Given the description of an element on the screen output the (x, y) to click on. 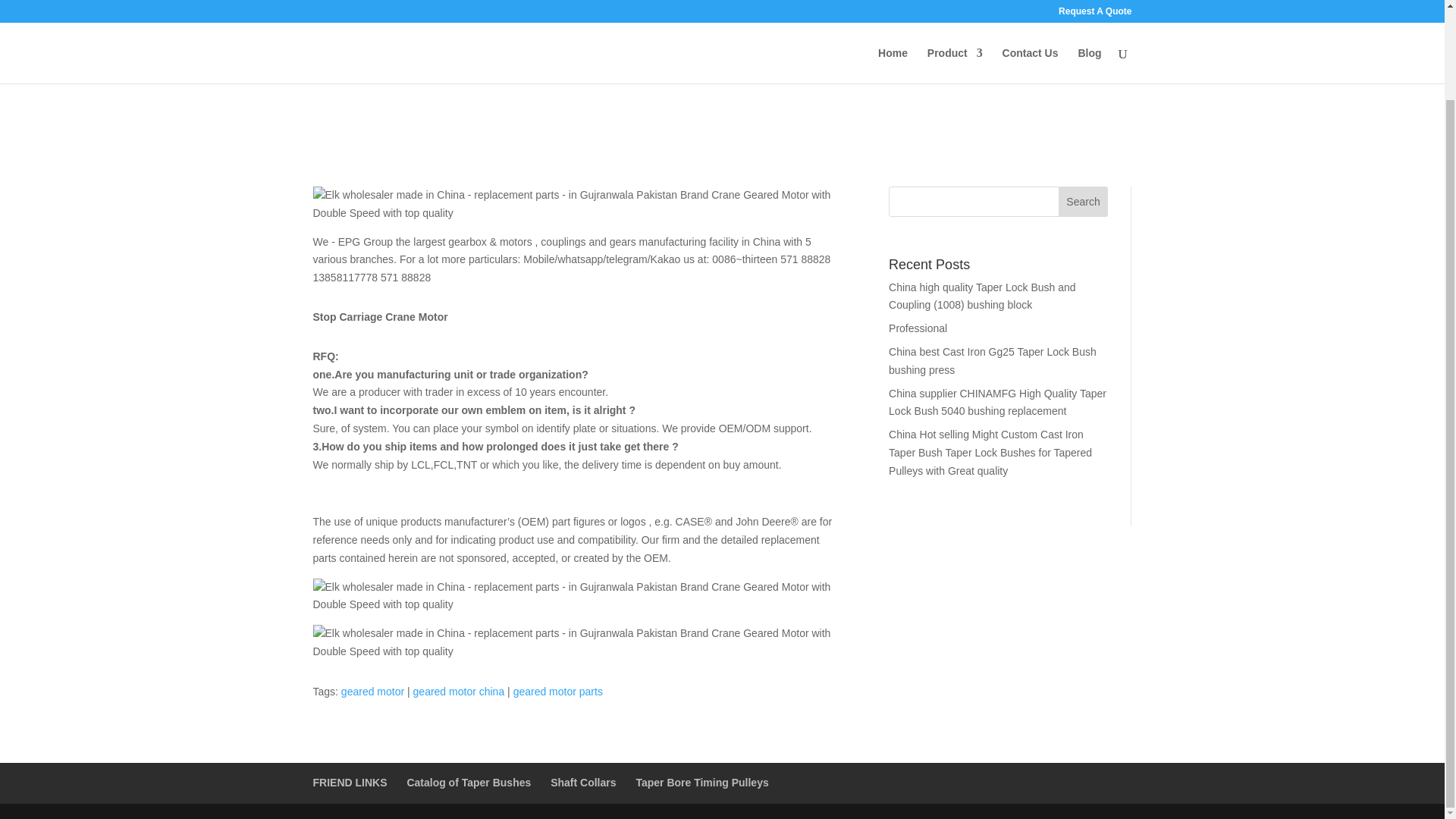
geared motor (372, 691)
Catalog of Taper Bushes (468, 782)
FRIEND LINKS (350, 782)
geared motor china (459, 691)
Professional (917, 328)
Taper Bore Timing Pulleys (701, 782)
Search (1083, 201)
China best Cast Iron Gg25 Taper Lock Bush bushing press (992, 360)
